Given the description of an element on the screen output the (x, y) to click on. 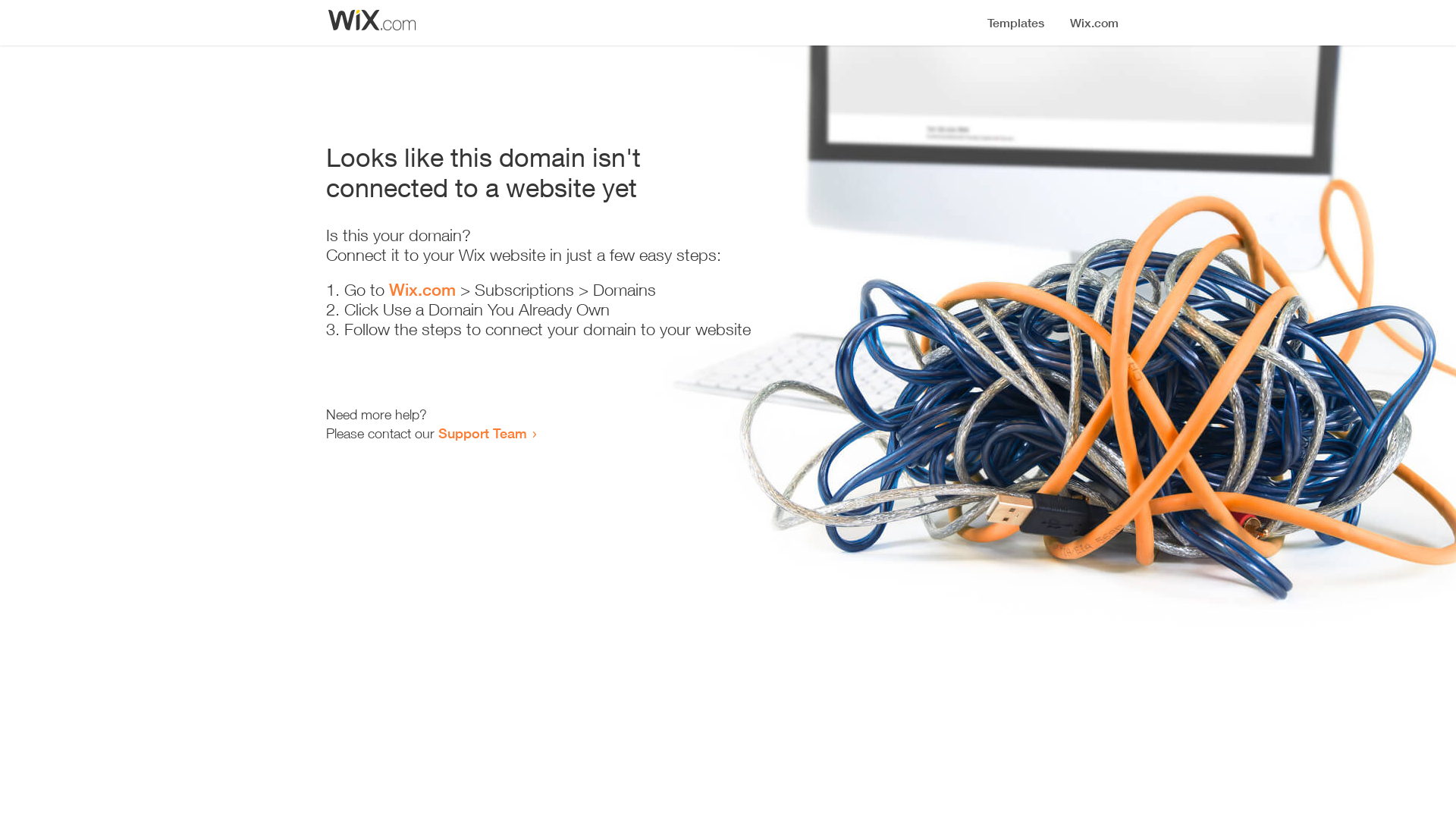
Wix.com Element type: text (422, 289)
Support Team Element type: text (482, 432)
